Given the description of an element on the screen output the (x, y) to click on. 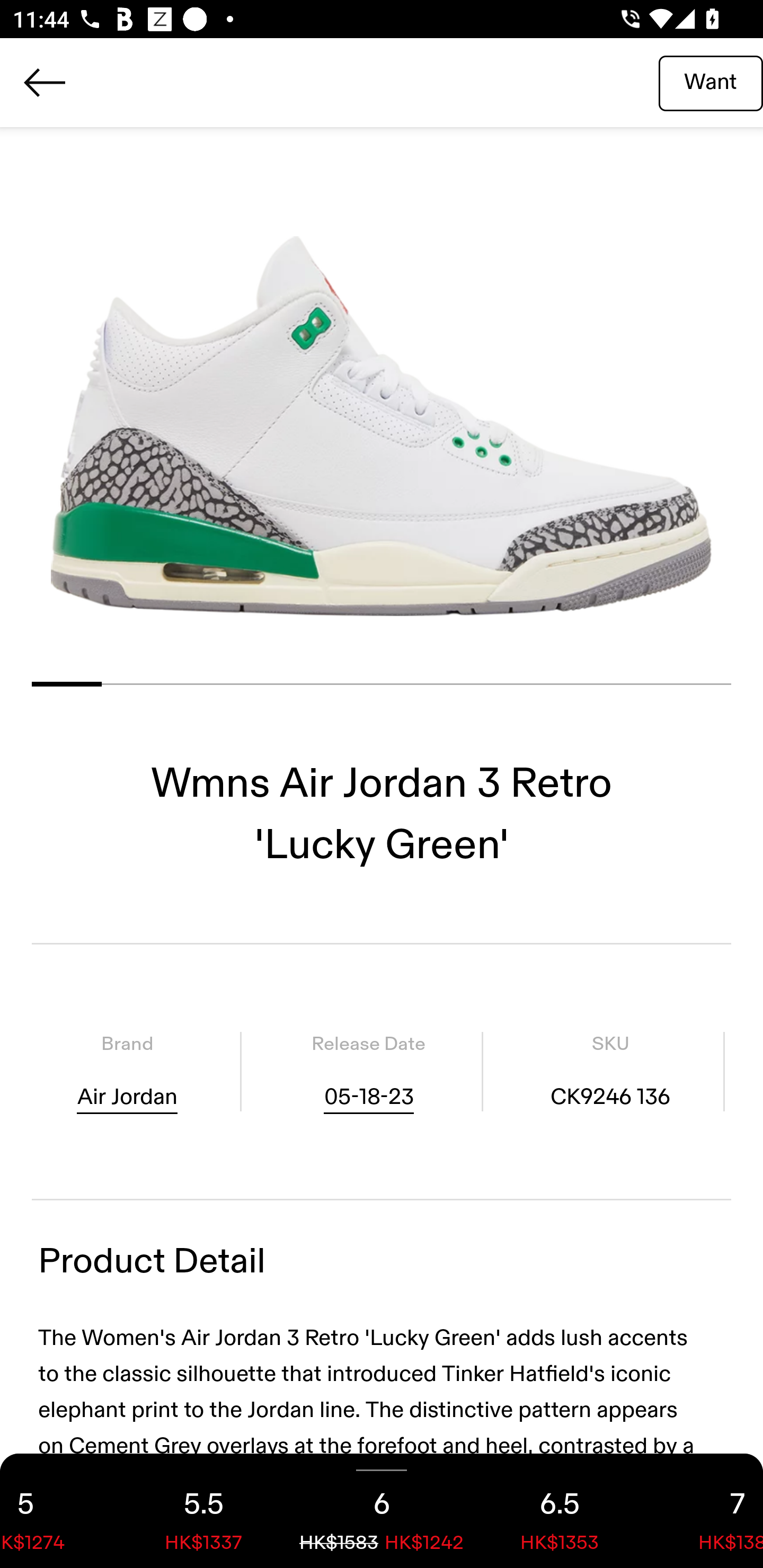
Want (710, 82)
Brand Air Jordan (126, 1070)
Release Date 05-18-23 (368, 1070)
SKU CK9246 136 (609, 1070)
5 HK$1274 (57, 1510)
5.5 HK$1337 (203, 1510)
6 HK$1583 HK$1242 (381, 1510)
6.5 HK$1353 (559, 1510)
7 HK$1385 (705, 1510)
